Given the description of an element on the screen output the (x, y) to click on. 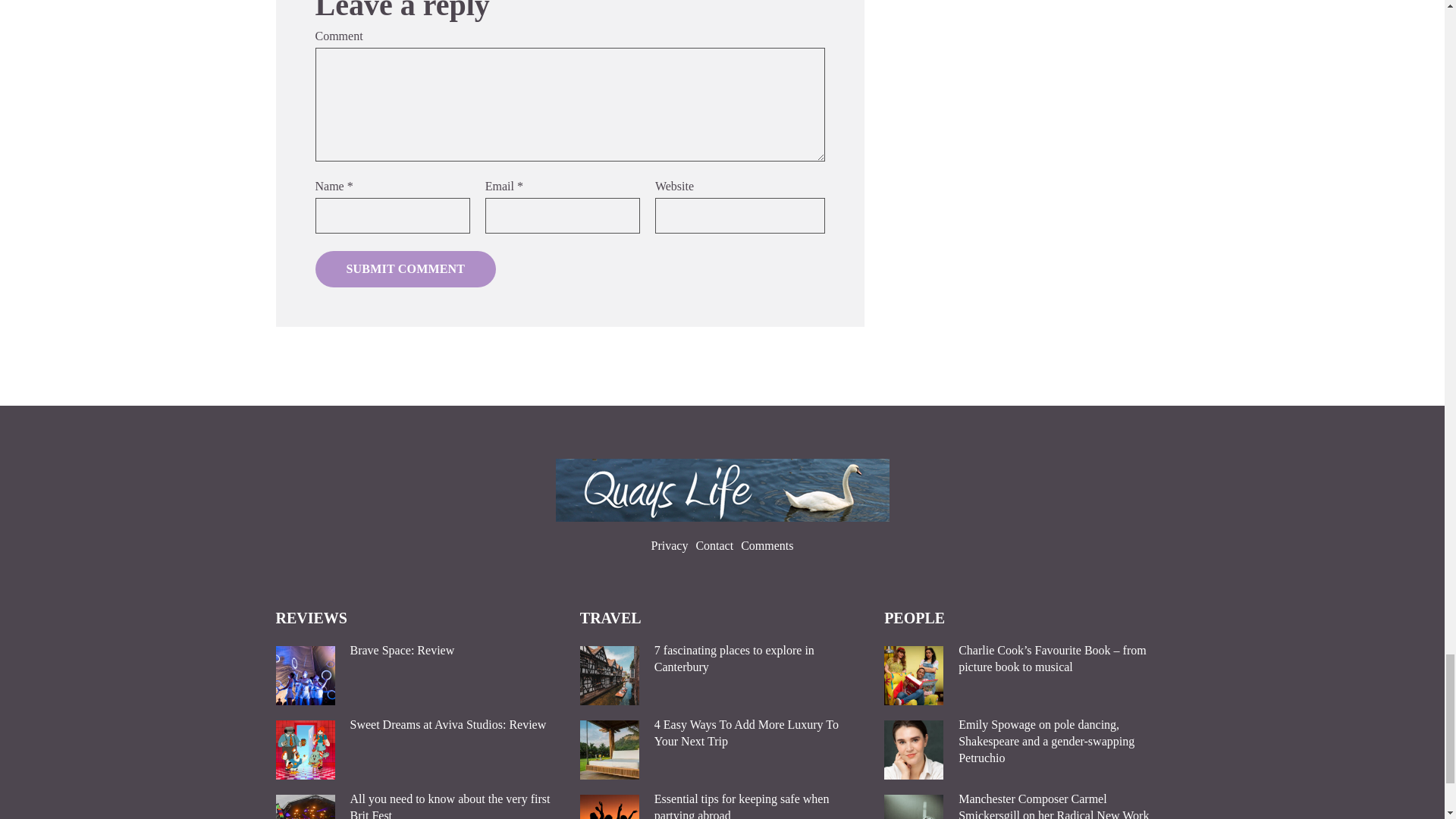
Submit Comment (405, 268)
